Given the description of an element on the screen output the (x, y) to click on. 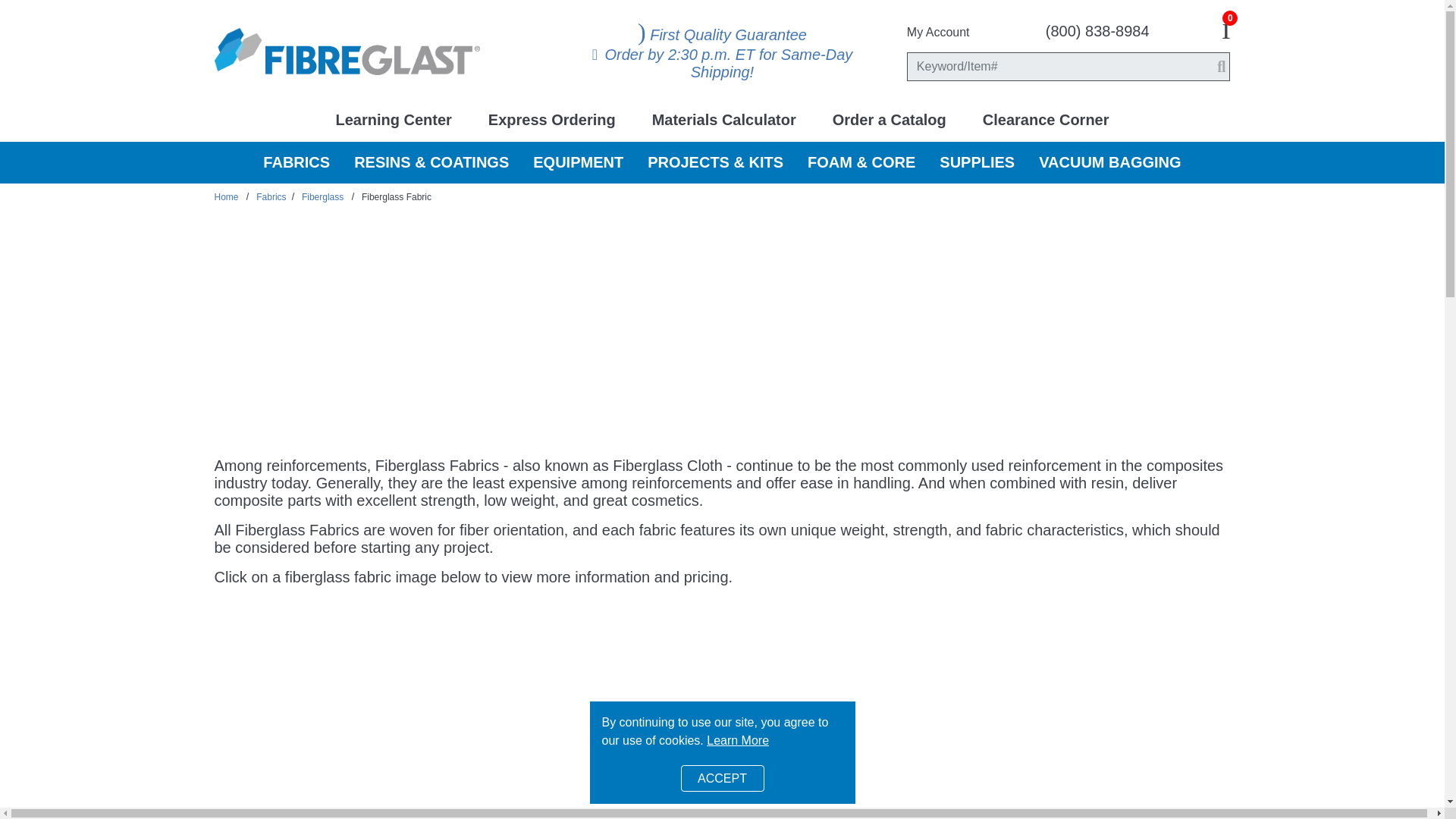
Style 6781 S2-Glass (597, 726)
Prepreg 7781 E-Glass (846, 726)
Style 7781 E-Glass (346, 726)
20 oz Tooling Fabric (1097, 726)
Fibre Glast Developments Corp Home Page (346, 49)
